Given the description of an element on the screen output the (x, y) to click on. 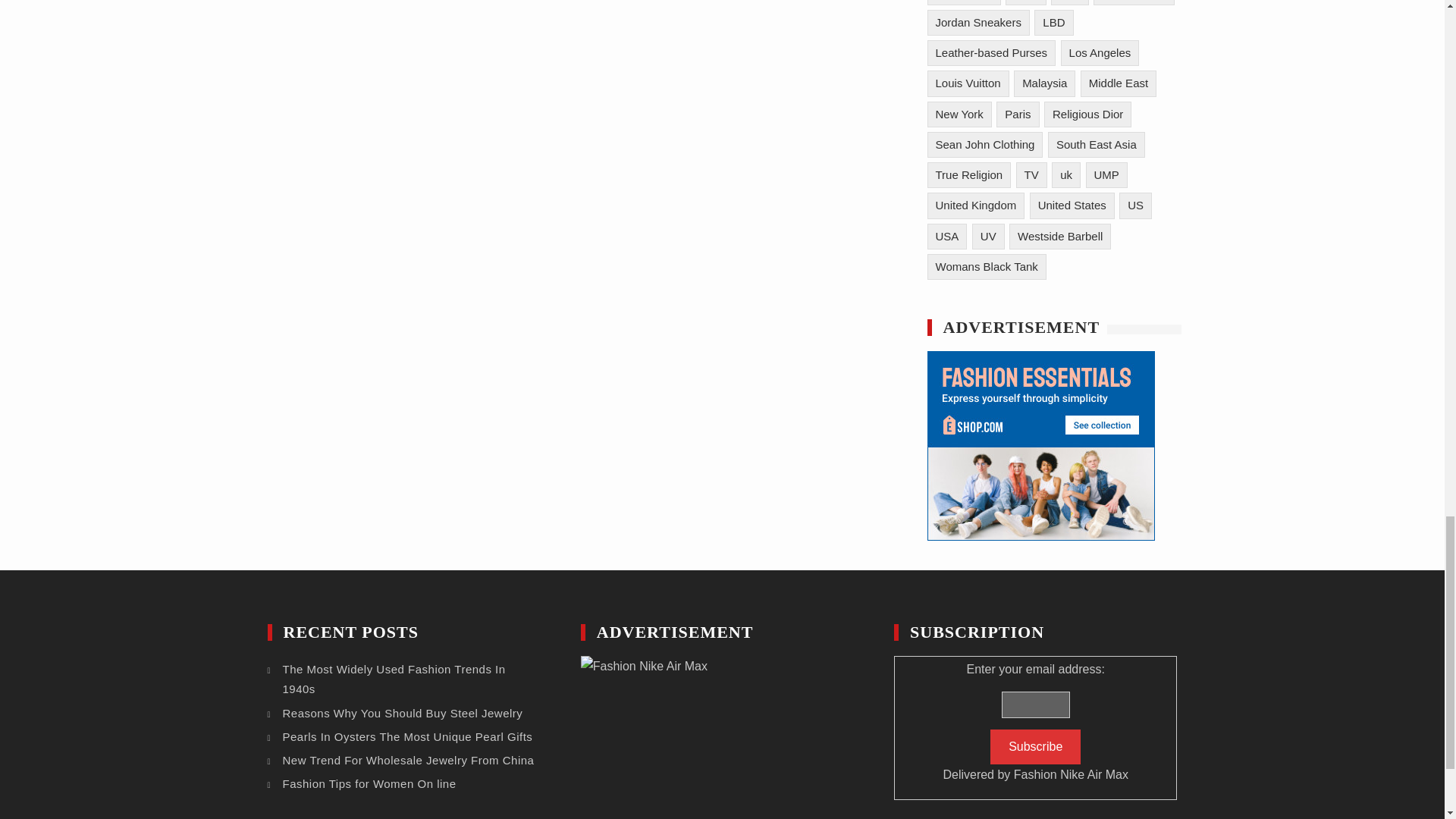
Subscribe (1035, 746)
